Given the description of an element on the screen output the (x, y) to click on. 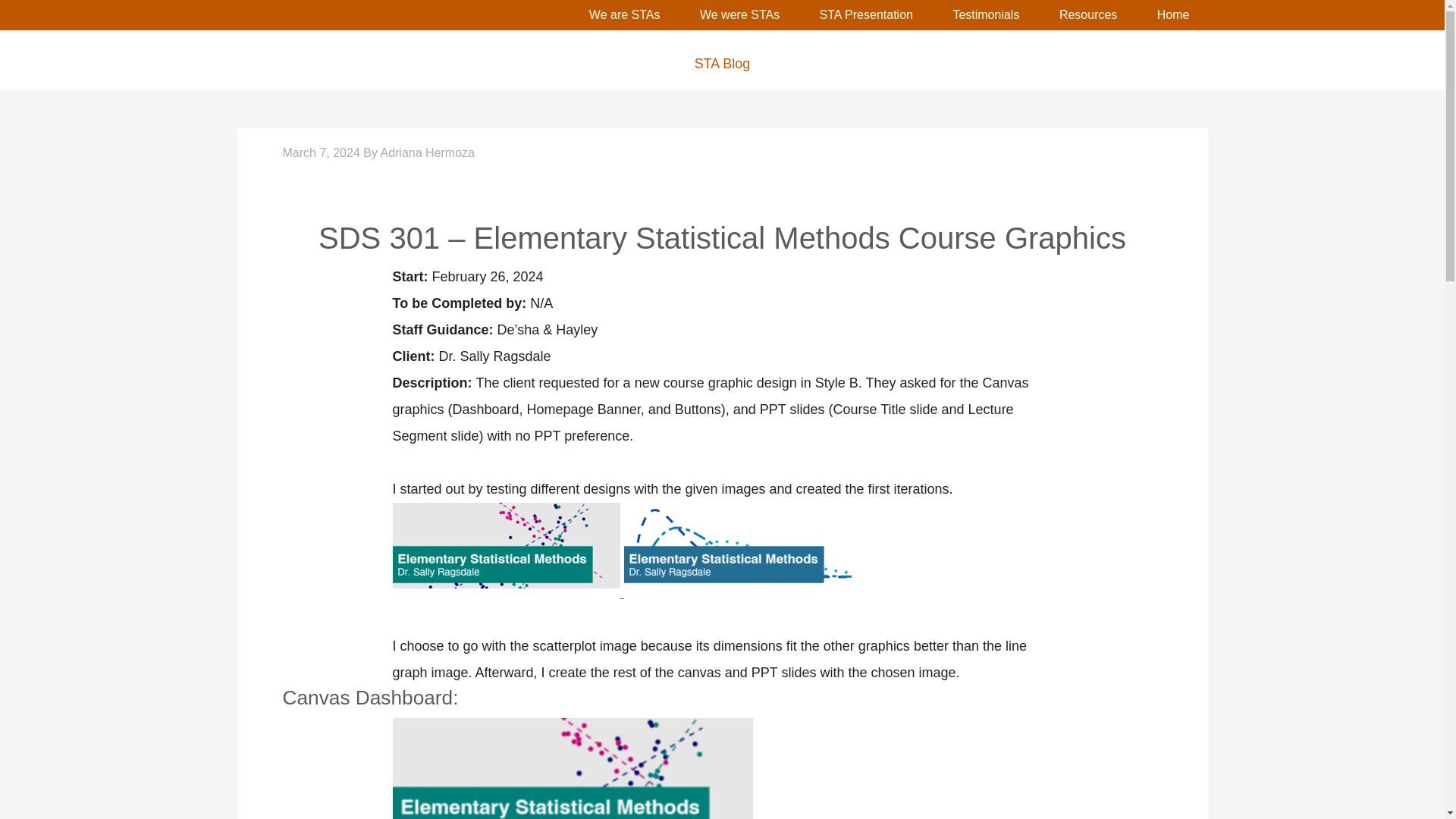
Testimonials (985, 15)
STA Blog (721, 64)
STA Presentation (866, 15)
We are STAs (624, 15)
Home (1173, 15)
Resources (1088, 15)
We were STAs (739, 15)
Adriana Hermoza (427, 152)
